Given the description of an element on the screen output the (x, y) to click on. 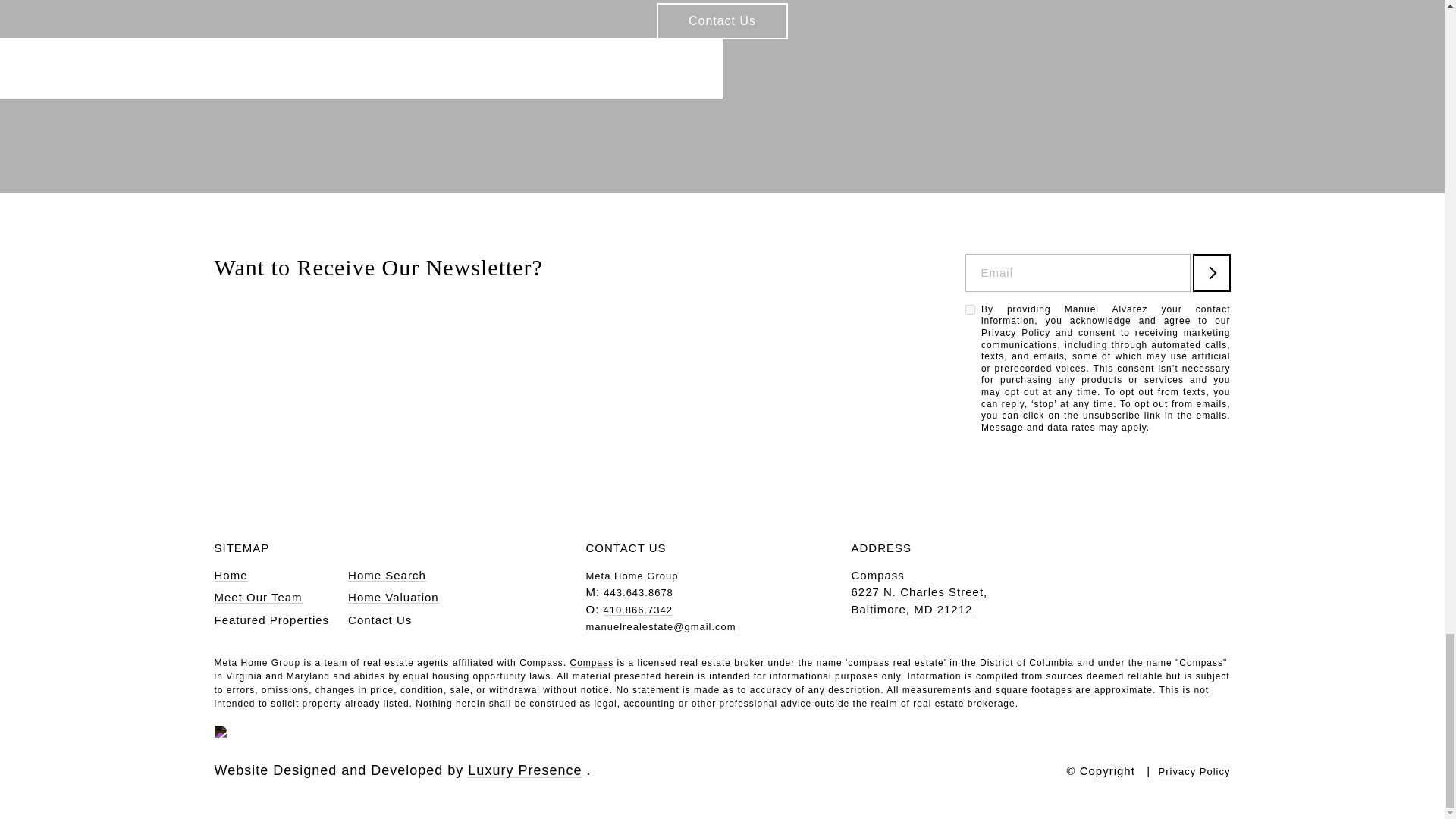
tel:4108667342 (638, 609)
on (968, 309)
tel:4436438678 (638, 592)
Contact Us (721, 21)
